Given the description of an element on the screen output the (x, y) to click on. 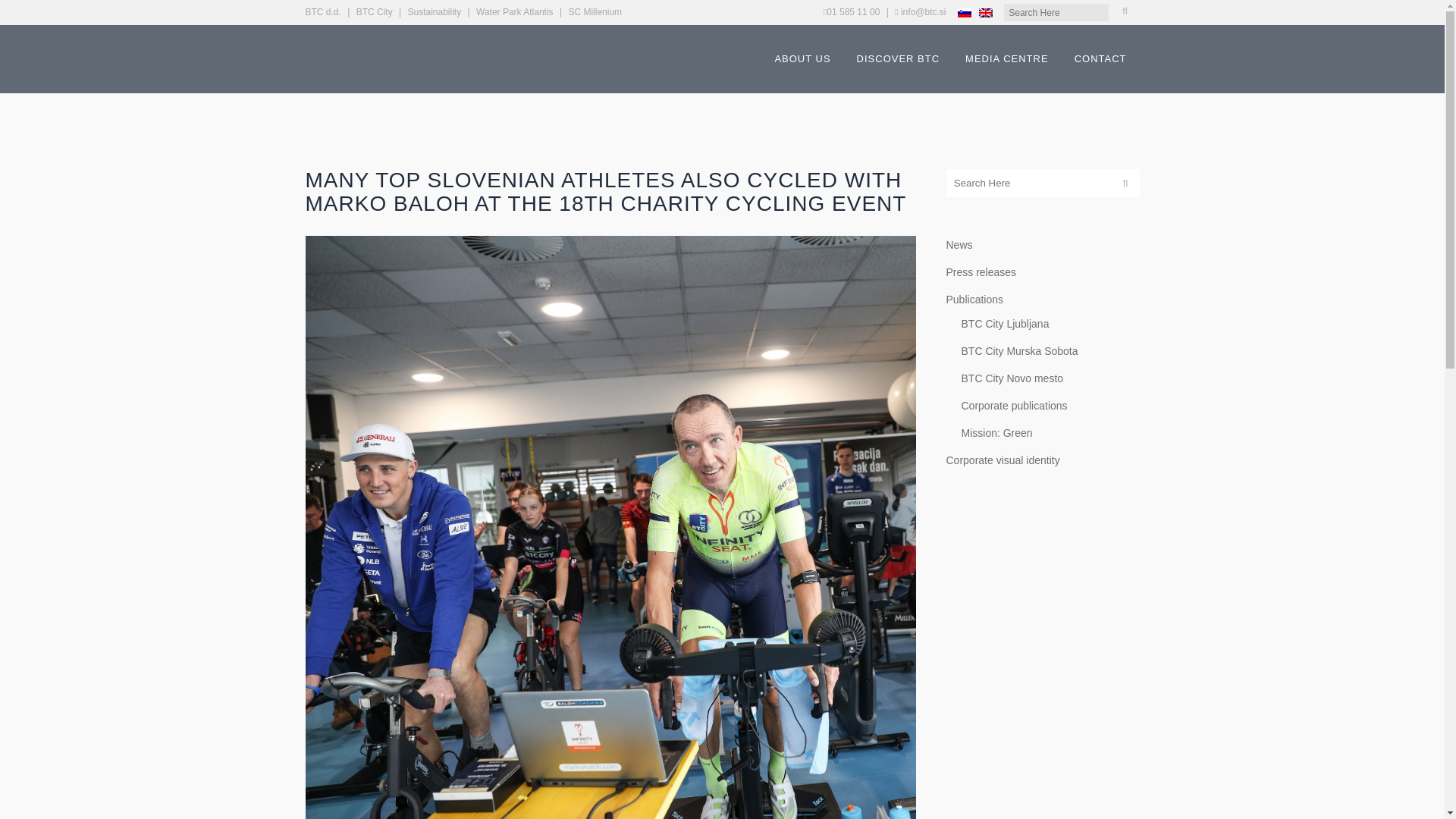
MEDIA CENTRE (1006, 59)
BTC d.d. (322, 11)
SC Millenium (594, 11)
Water Park Atlantis (514, 11)
01 585 11 00 (853, 11)
Sustainability (434, 11)
DISCOVER BTC (898, 59)
BTC City (374, 11)
ABOUT US (802, 59)
CONTACT (1100, 59)
